Given the description of an element on the screen output the (x, y) to click on. 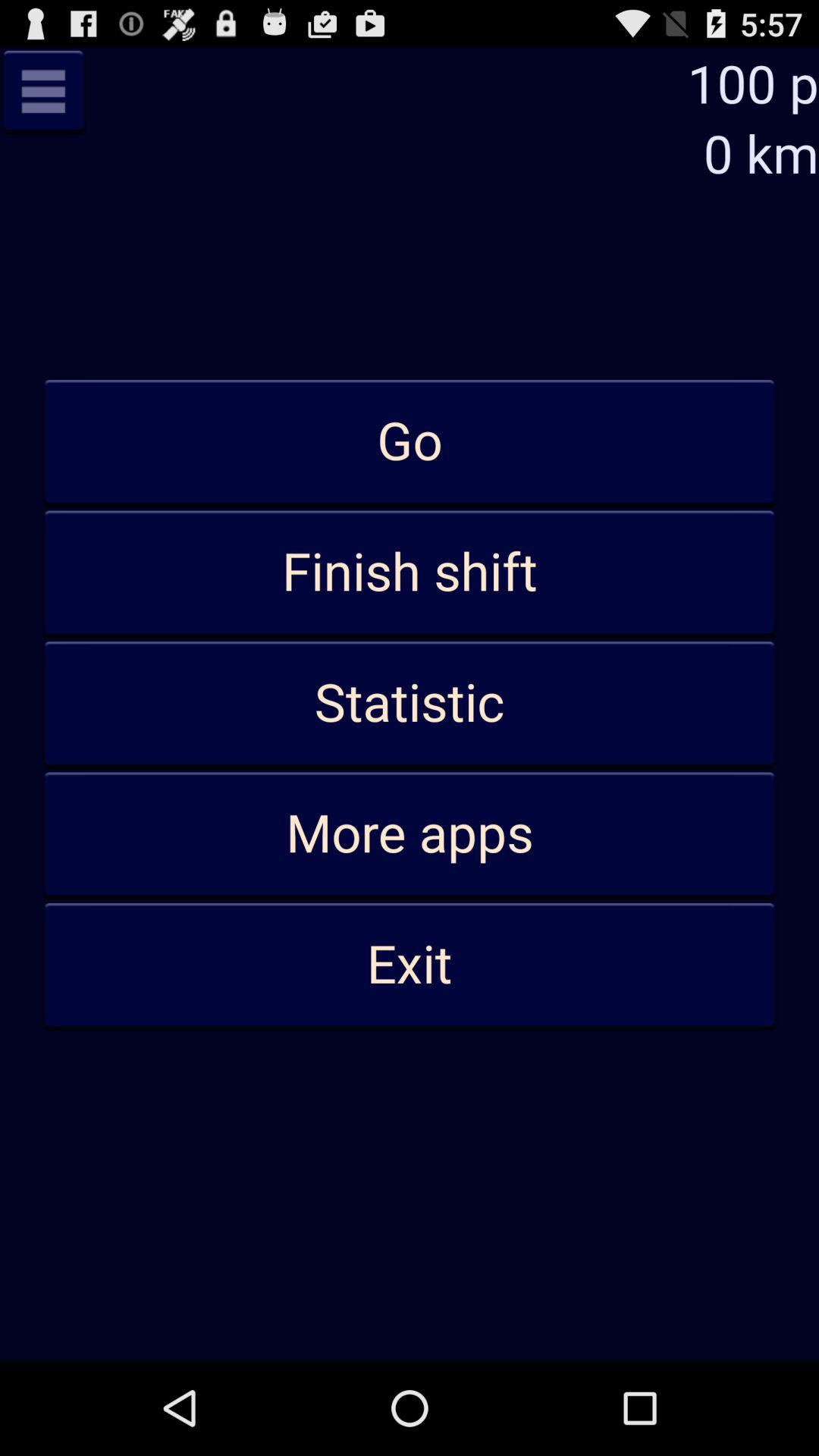
jump to go app (409, 442)
